Given the description of an element on the screen output the (x, y) to click on. 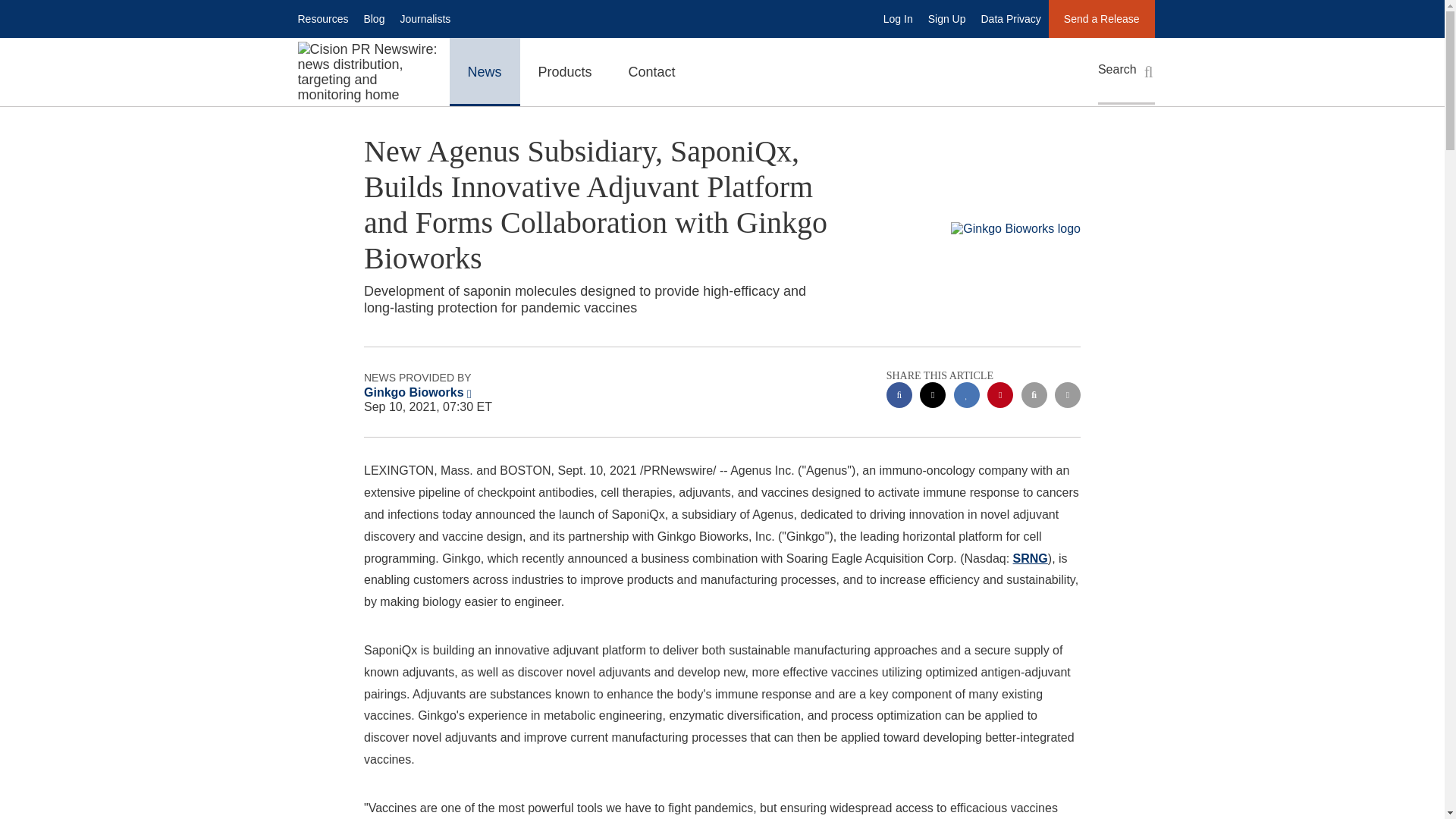
Resources (322, 18)
Log In (898, 18)
News (483, 71)
Sign Up (947, 18)
Contact (652, 71)
Send a Release (1101, 18)
Blog (373, 18)
Data Privacy (1011, 18)
Journalists (424, 18)
